Given the description of an element on the screen output the (x, y) to click on. 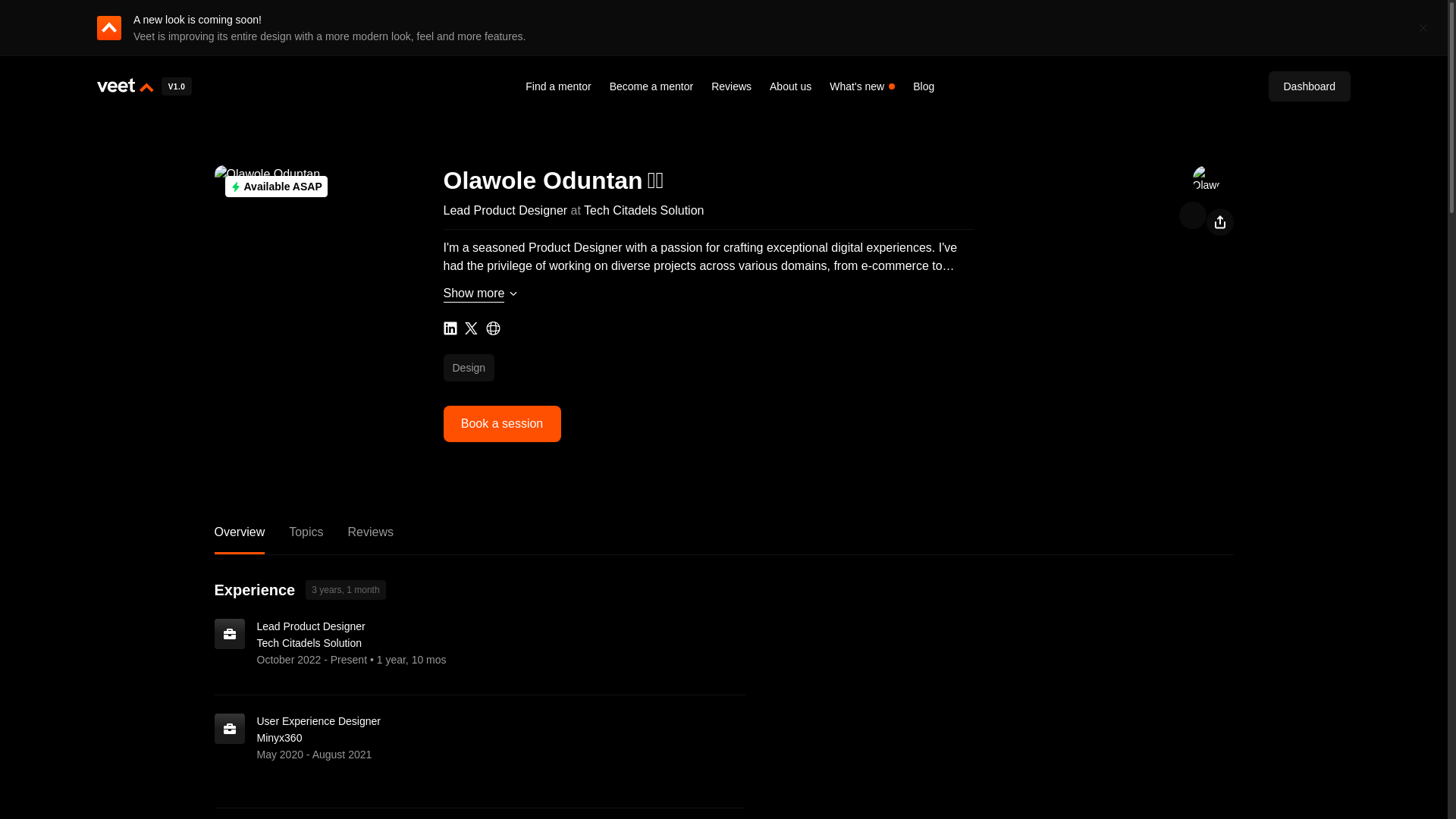
Veet is live (176, 85)
Book a session (501, 423)
Reviews (370, 538)
Overview (239, 538)
Become a mentor (652, 86)
What's new (856, 86)
Blog (923, 86)
Olawole Oduntan on Linkedin (723, 539)
Design (449, 327)
